Given the description of an element on the screen output the (x, y) to click on. 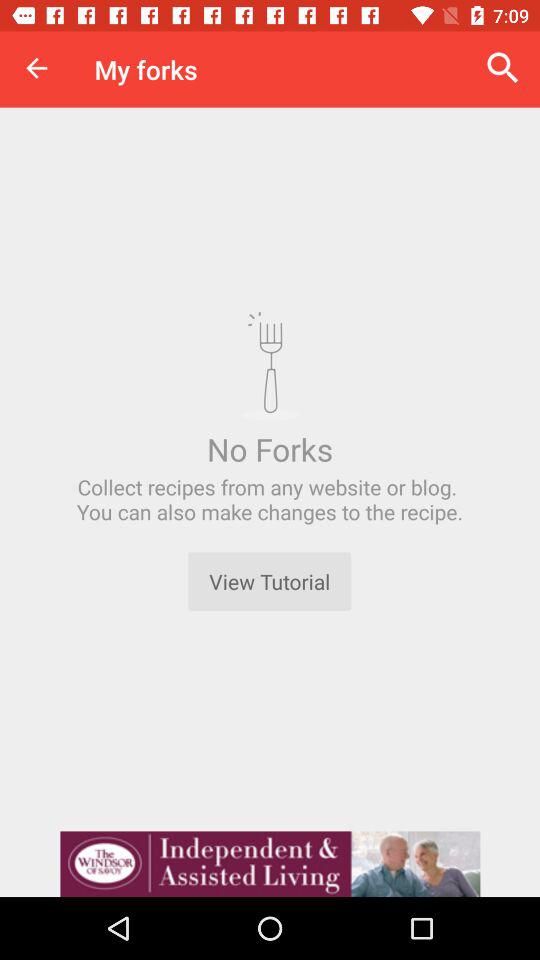
windsor advertisement (270, 864)
